Given the description of an element on the screen output the (x, y) to click on. 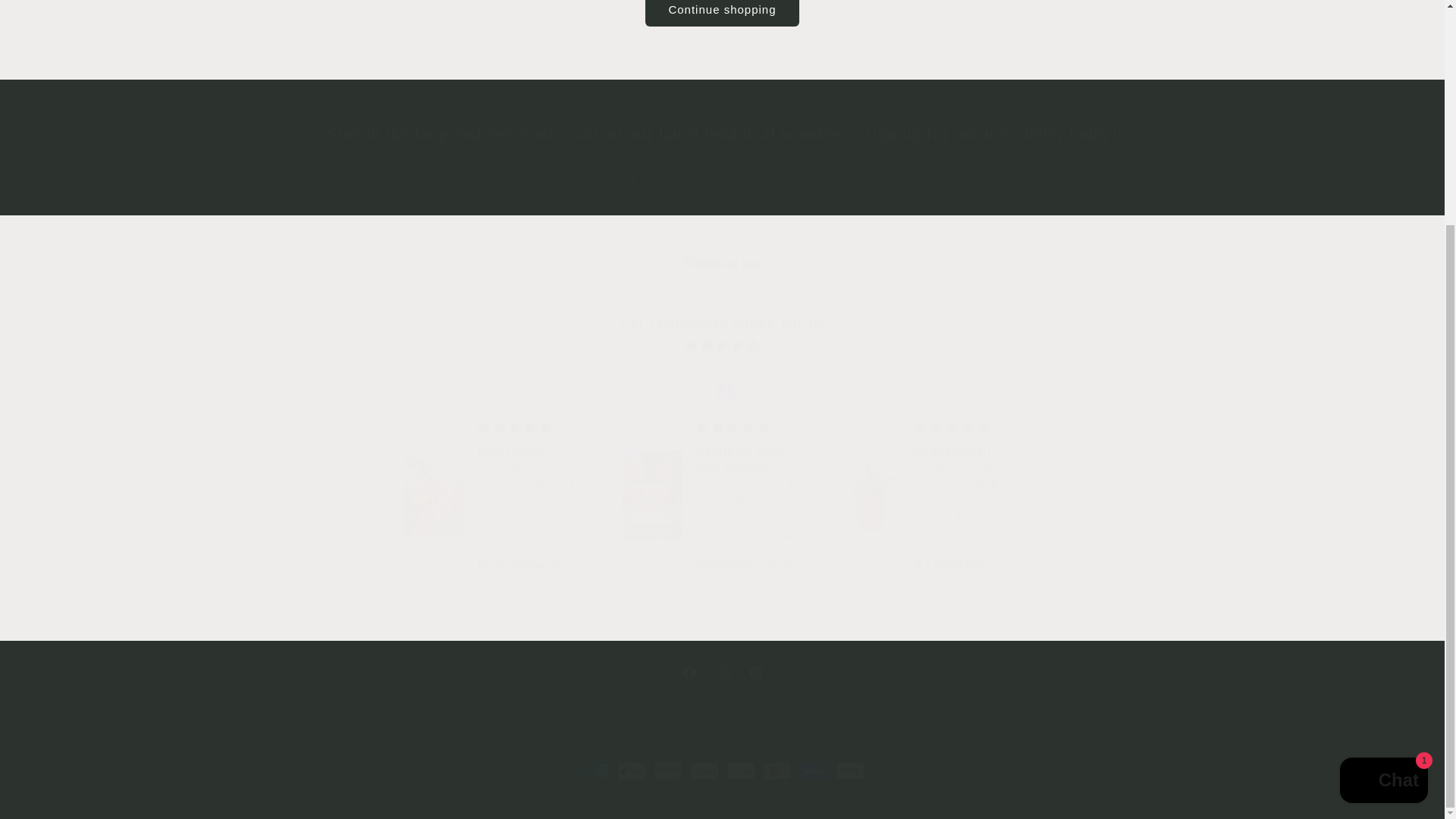
Shopify online store chat (1383, 481)
Email (721, 672)
